Given the description of an element on the screen output the (x, y) to click on. 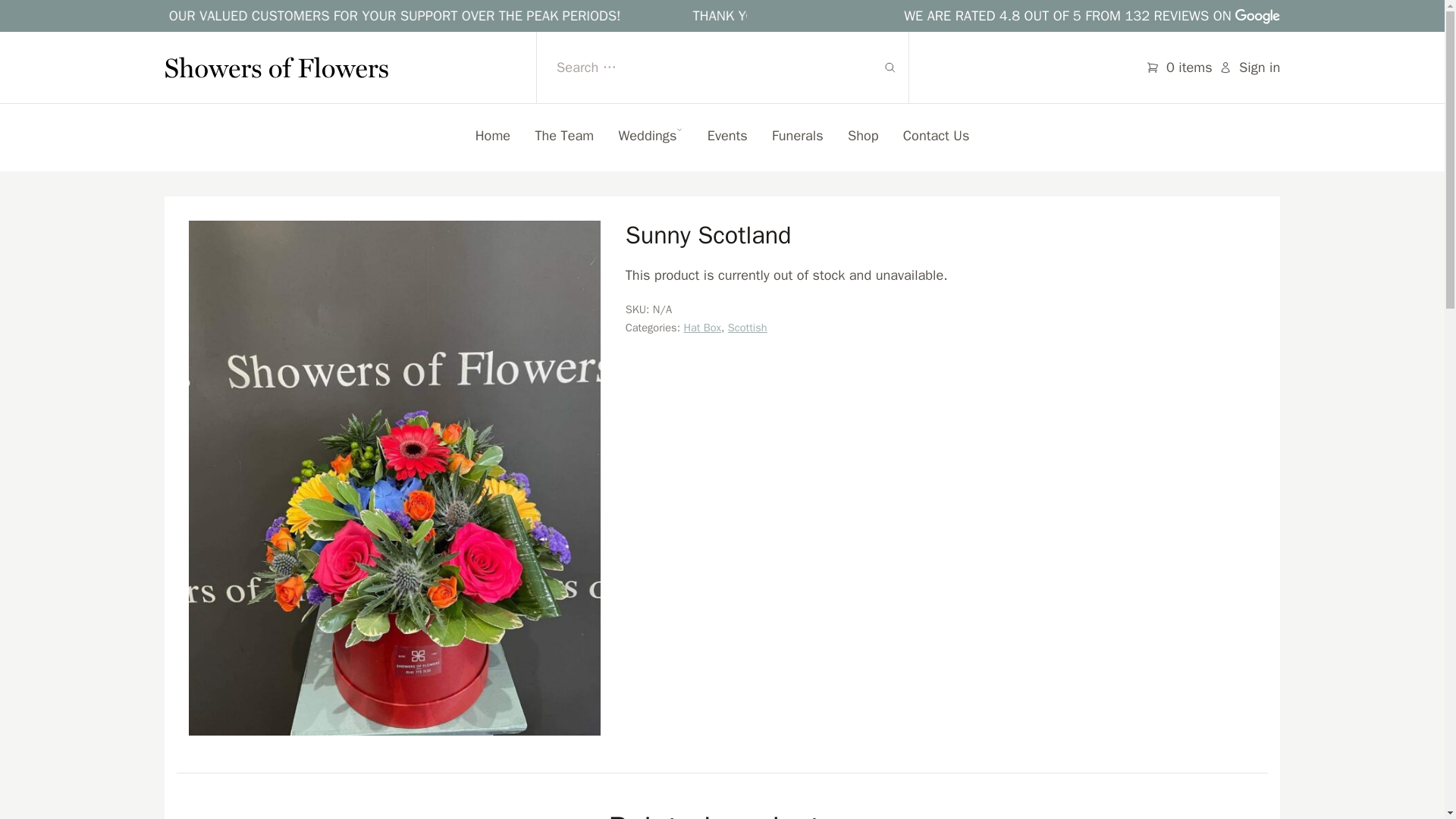
0 items (1179, 67)
Shop (863, 136)
The Team (563, 136)
Google logo (1256, 16)
Home (492, 136)
Funerals (797, 136)
Weddings (649, 136)
sof-logo-black (276, 67)
Events (727, 136)
Sign in (1249, 67)
Contact Us (936, 136)
Hat Box (701, 327)
Scottish (747, 327)
